Given the description of an element on the screen output the (x, y) to click on. 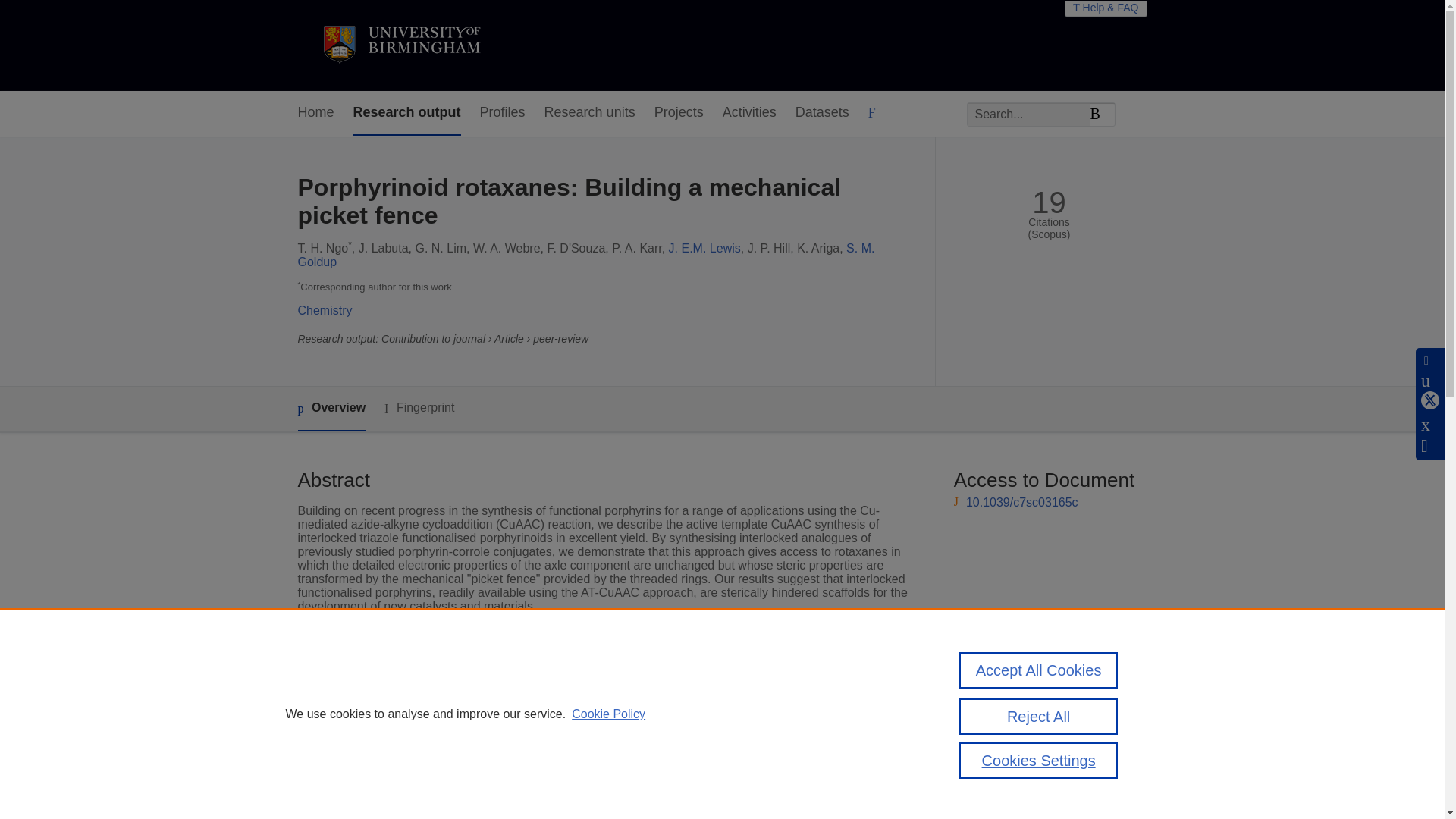
University of Birmingham Home (401, 45)
Research output (407, 112)
Projects (678, 112)
Research units (589, 112)
Chemistry (324, 309)
Profiles (502, 112)
Datasets (821, 112)
Chemical Science (559, 697)
Fingerprint (419, 407)
